Given the description of an element on the screen output the (x, y) to click on. 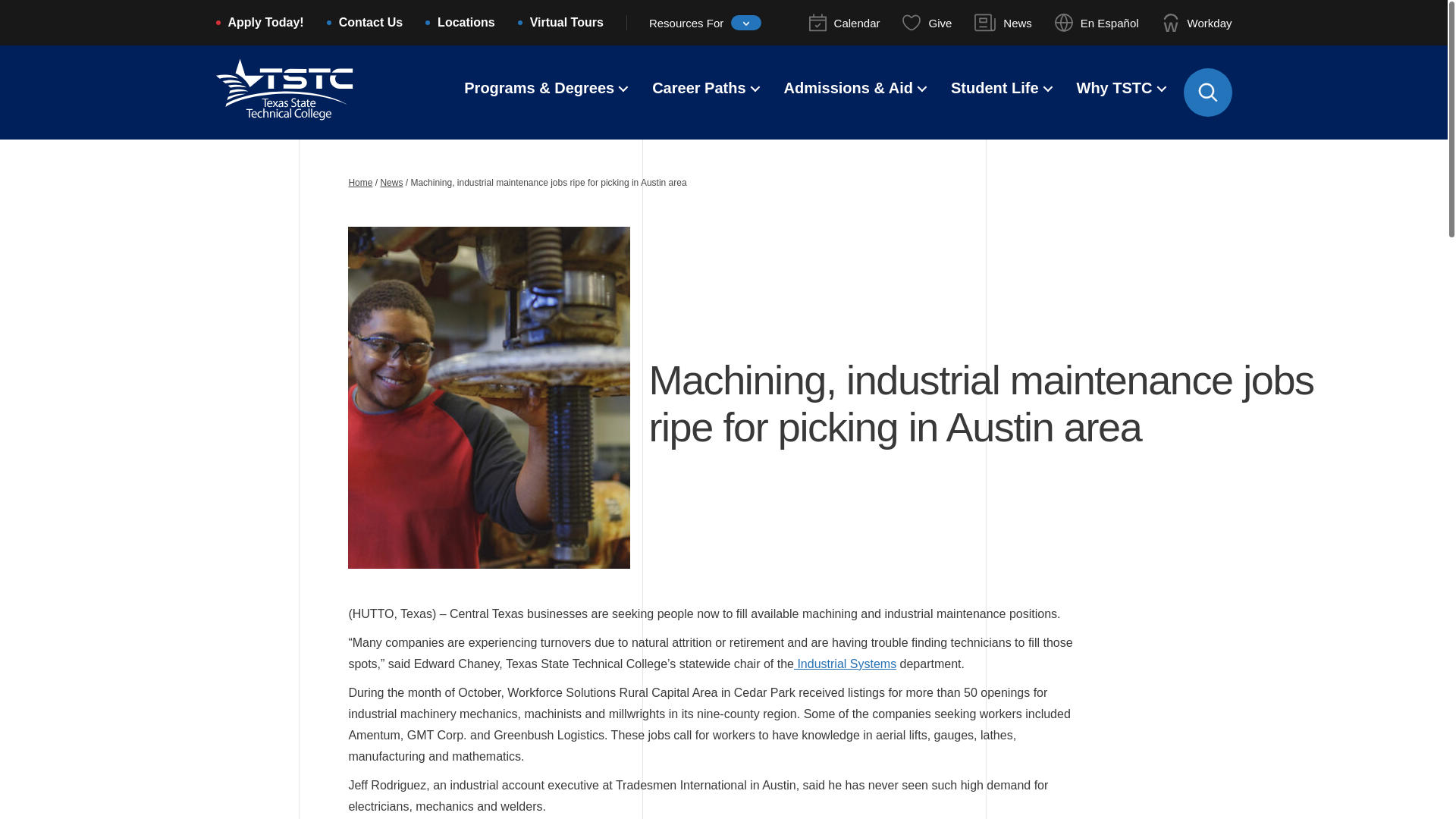
Student Life (994, 89)
Contact Us (371, 23)
Workday (1196, 22)
Apply Today! (264, 23)
Give (927, 22)
Career Paths (698, 89)
News (1003, 22)
Locations (466, 23)
Calendar (844, 22)
Virtual Tours (566, 23)
